Given the description of an element on the screen output the (x, y) to click on. 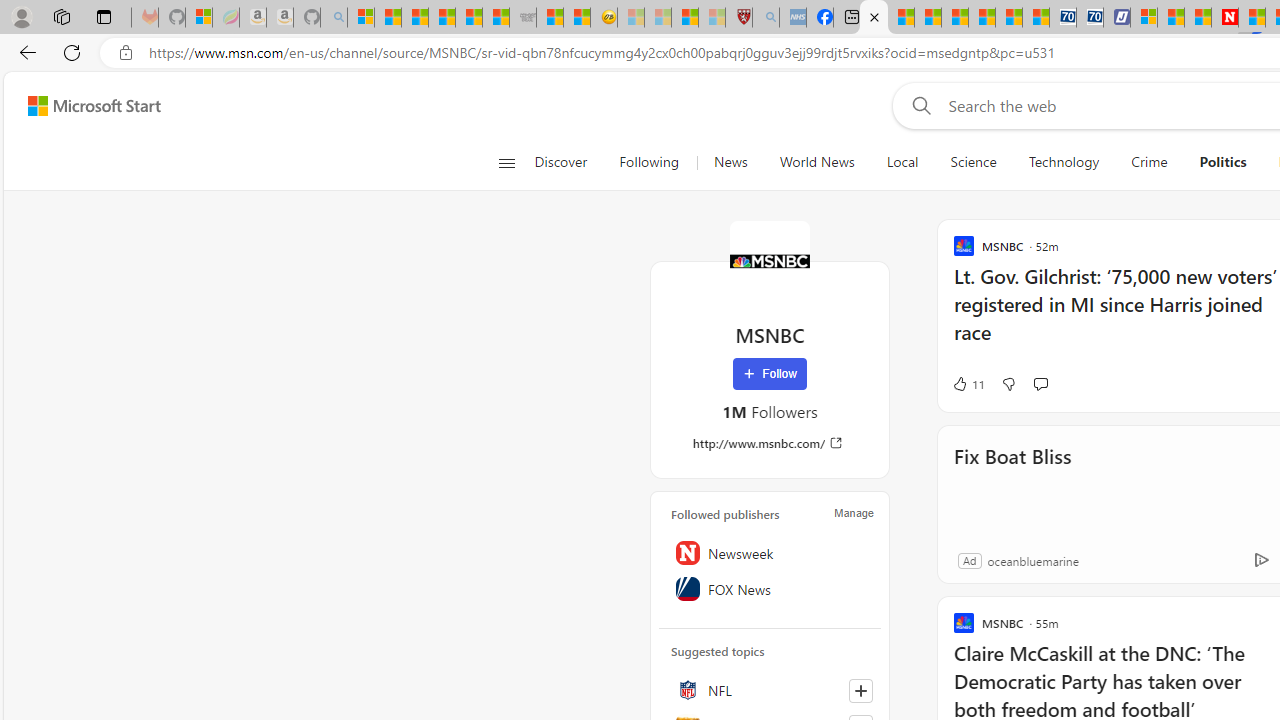
Class: button-glyph (505, 162)
Local (902, 162)
Crime (1149, 162)
Stocks - MSN (495, 17)
Discover (568, 162)
12 Popular Science Lies that Must be Corrected - Sleeping (711, 17)
